Given the description of an element on the screen output the (x, y) to click on. 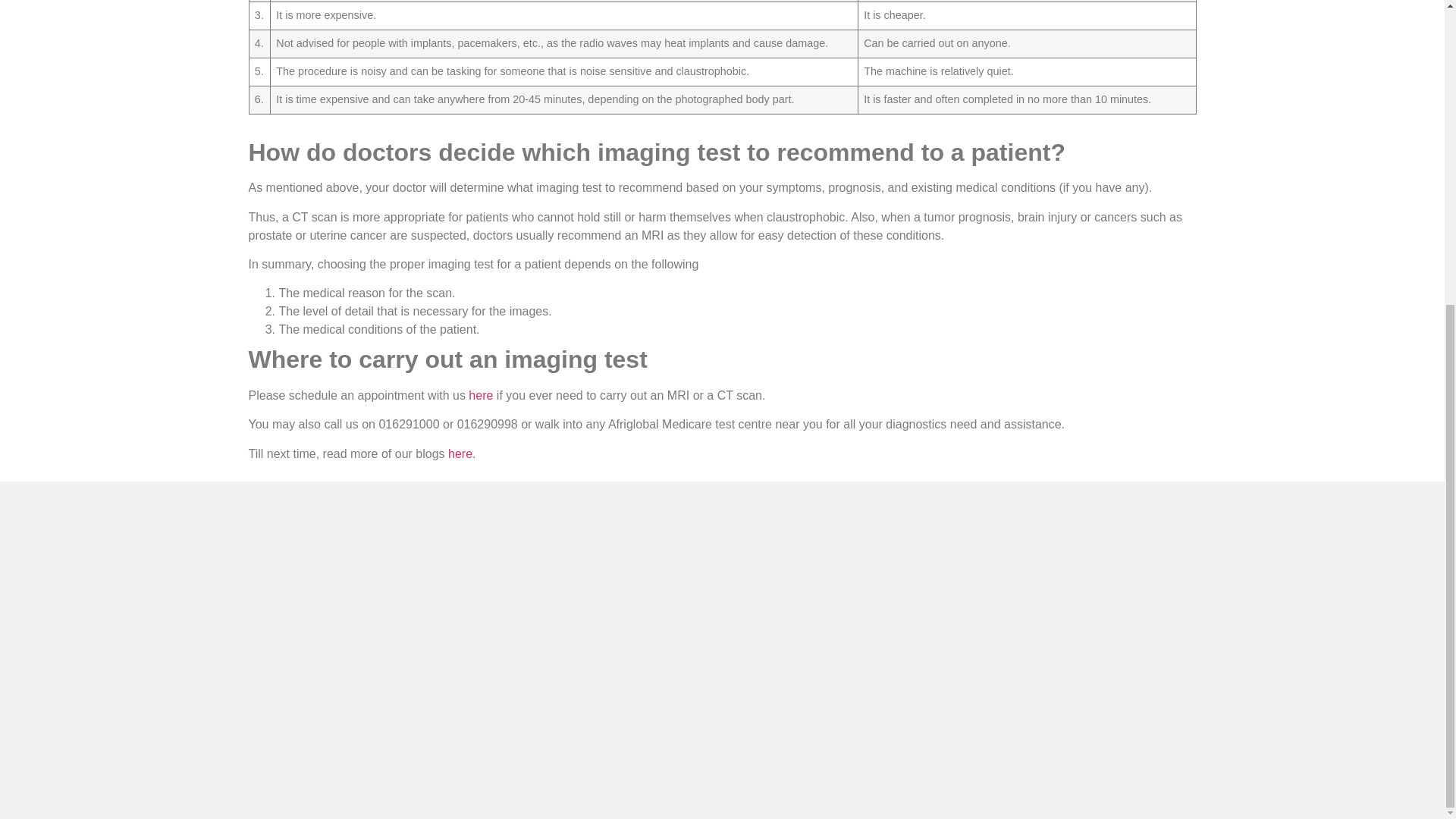
here (459, 453)
here (480, 395)
